Given the description of an element on the screen output the (x, y) to click on. 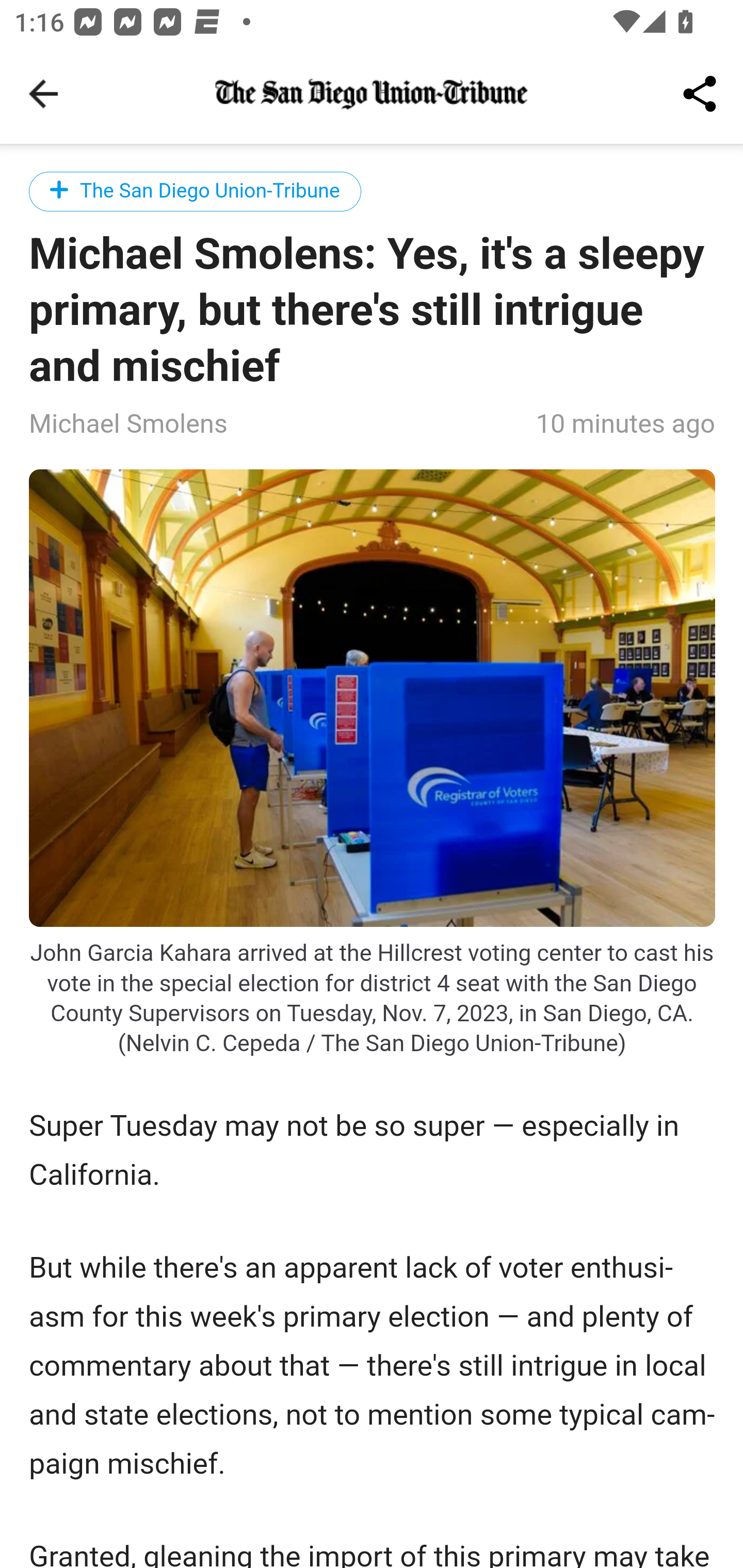
The San Diego Union-Tribune (195, 191)
